Given the description of an element on the screen output the (x, y) to click on. 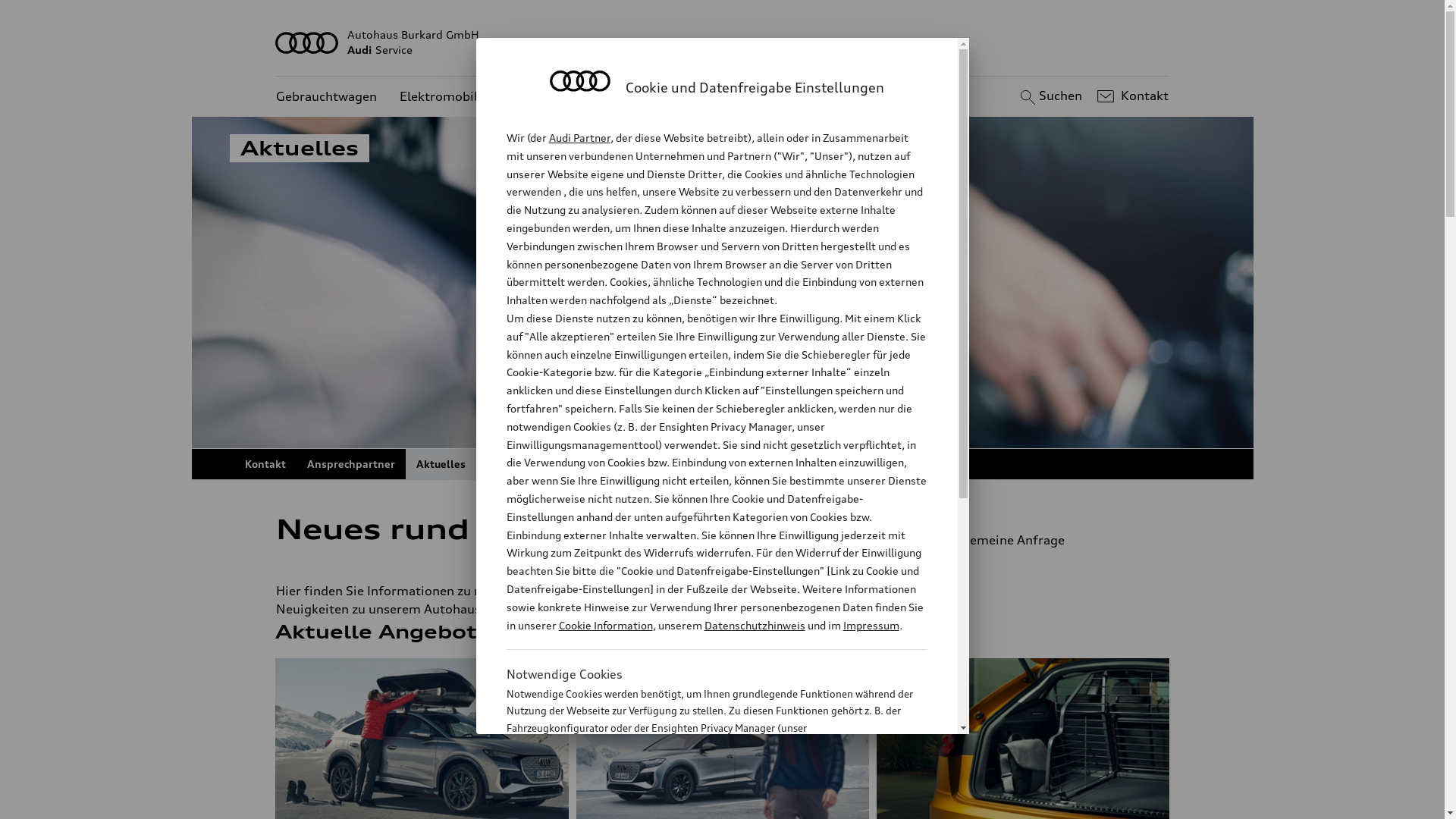
Audi Partner Element type: text (579, 137)
Gebrauchtwagen Element type: text (326, 96)
Kontakt Element type: text (264, 463)
Suchen Element type: text (1049, 96)
Cookie Information Element type: text (605, 624)
Datenschutzhinweis Element type: text (753, 624)
Angebote Element type: text (550, 96)
Online Shop Element type: text (518, 463)
Kontakt Element type: text (1130, 96)
Aktuelles Element type: text (439, 463)
Allgemeine Anfrage Element type: text (1044, 539)
Impressum Element type: text (871, 624)
Ansprechpartner Element type: text (349, 463)
Cookie Information Element type: text (700, 802)
Kundenservice Element type: text (645, 96)
Autohaus Burkard GmbH
AudiService Element type: text (722, 42)
